Given the description of an element on the screen output the (x, y) to click on. 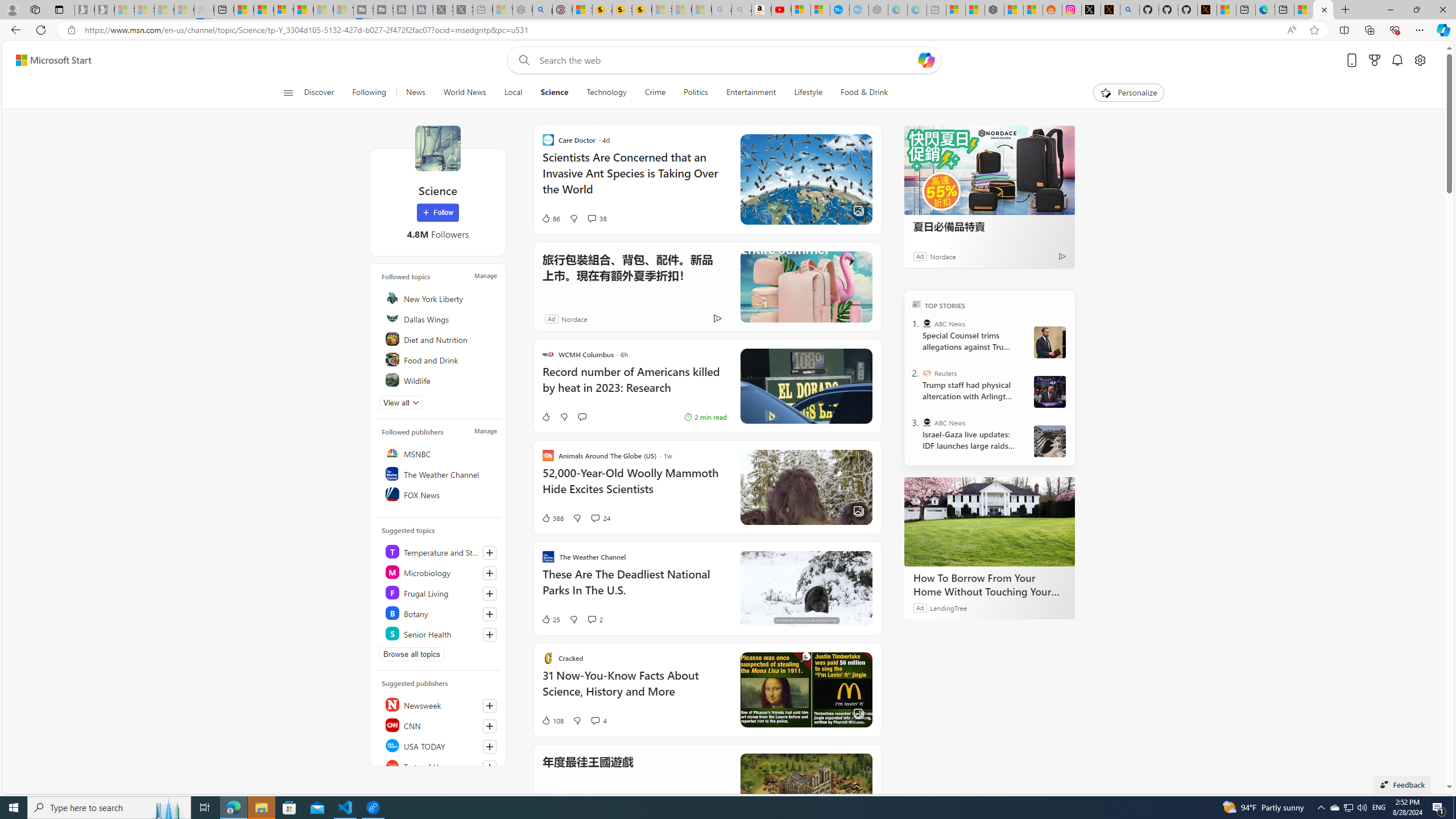
View all (401, 402)
github - Search (1129, 9)
Dallas Wings (439, 318)
View comments 2 Comment (591, 619)
View comments 24 Comment (599, 517)
388 Like (551, 517)
Follow this source (489, 767)
Science (554, 92)
Like (544, 416)
Science (554, 92)
